Given the description of an element on the screen output the (x, y) to click on. 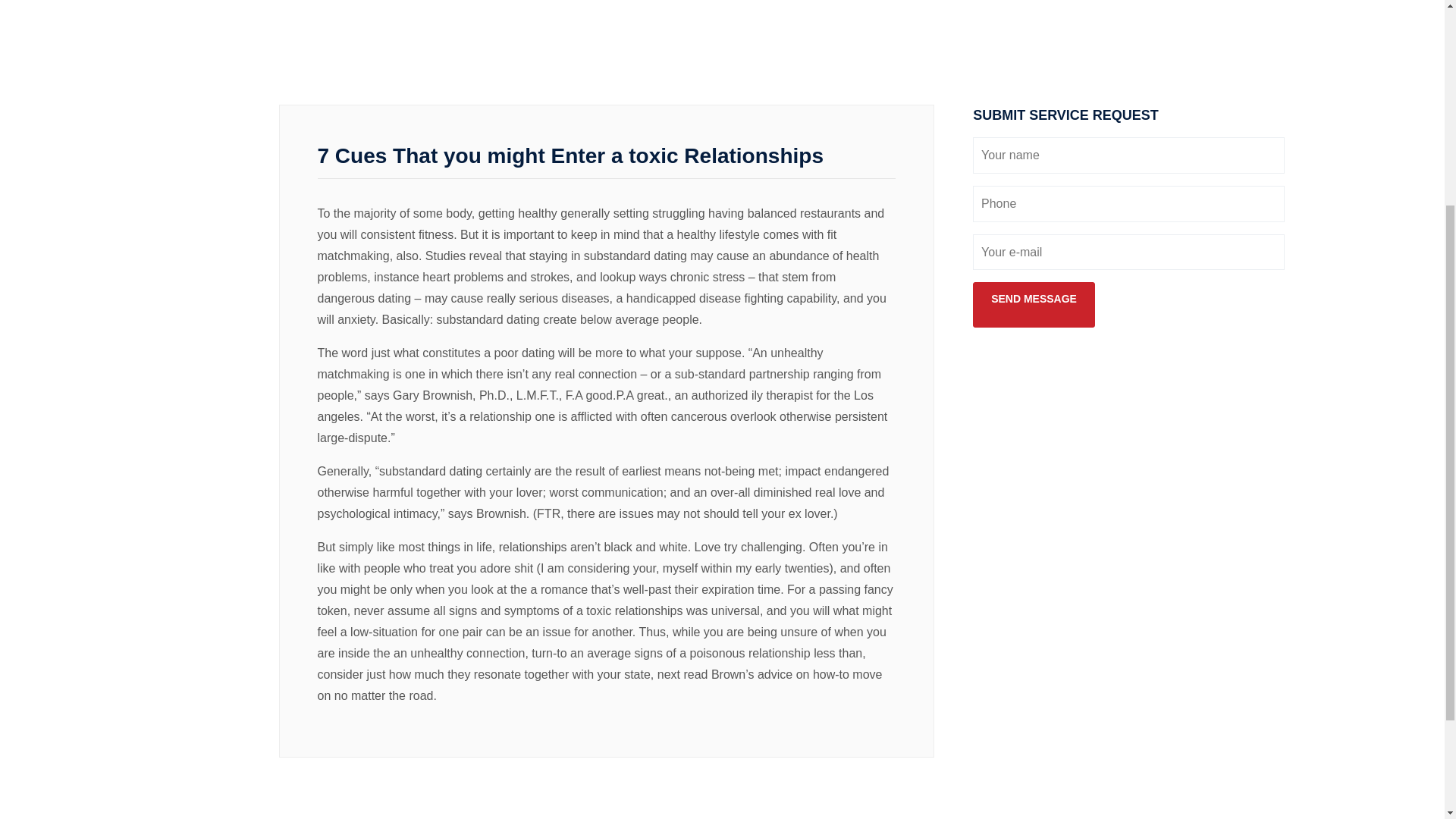
Send Message (1033, 298)
Send Message (1033, 298)
